Given the description of an element on the screen output the (x, y) to click on. 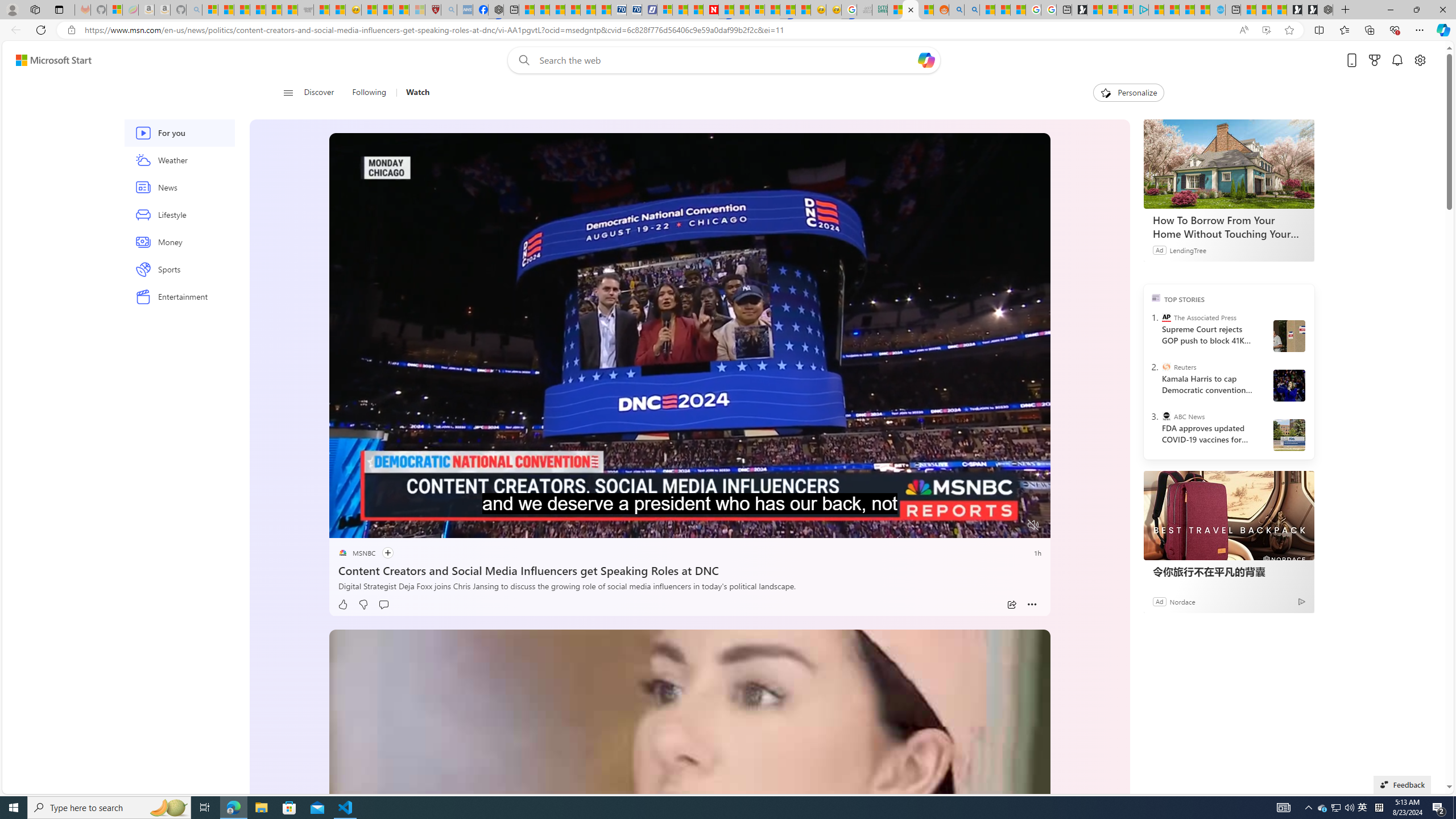
Progress Bar (689, 510)
The Weather Channel - MSN (241, 9)
Seek Forward (391, 525)
More (1031, 604)
